Given the description of an element on the screen output the (x, y) to click on. 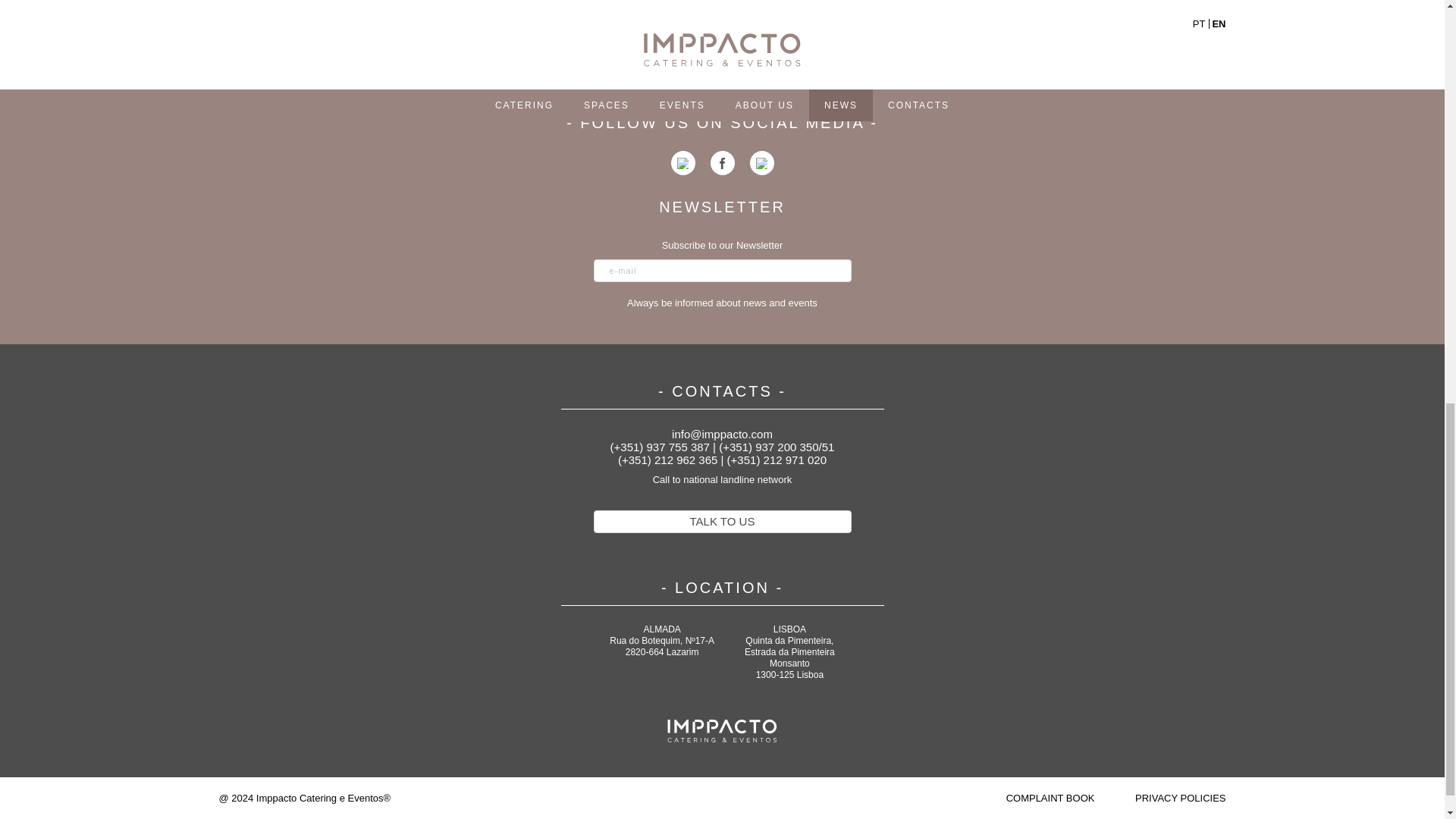
COMPLAINT BOOK (1051, 797)
TALK TO US (721, 521)
PRIVACY POLICIES (1180, 797)
